Given the description of an element on the screen output the (x, y) to click on. 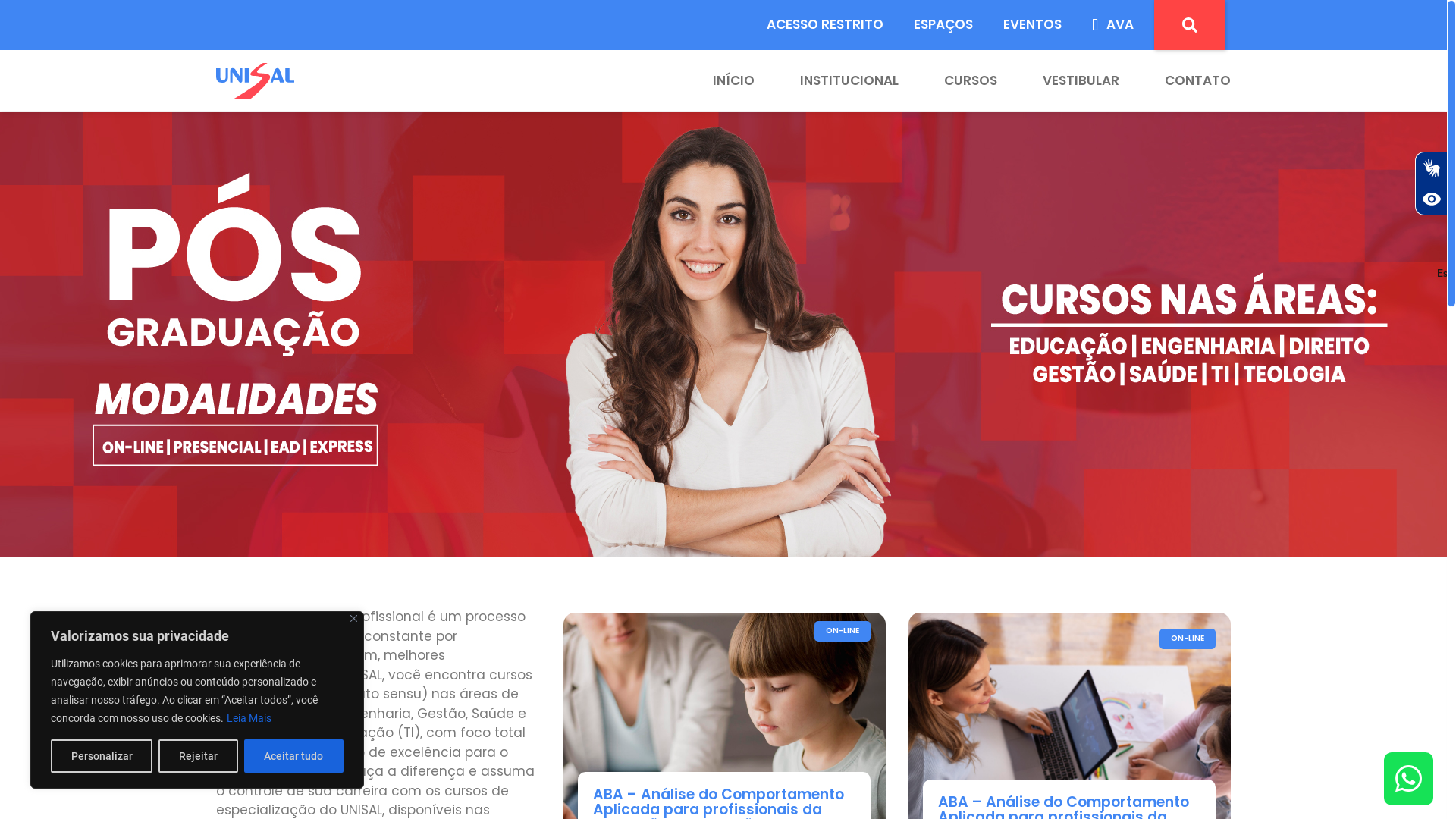
INSTITUCIONAL Element type: text (826, 81)
ACESSO RESTRITO Element type: text (824, 24)
AVA Element type: text (1112, 24)
Leia Mais Element type: text (248, 717)
VESTIBULAR Element type: text (1058, 81)
EVENTOS Element type: text (1032, 24)
Rejeitar Element type: text (197, 755)
CURSOS Element type: text (947, 81)
Aceitar tudo Element type: text (293, 755)
ON-LINE Element type: text (842, 630)
Personalizar Element type: text (101, 755)
ON-LINE Element type: text (1187, 637)
CONTATO Element type: text (1174, 81)
